Given the description of an element on the screen output the (x, y) to click on. 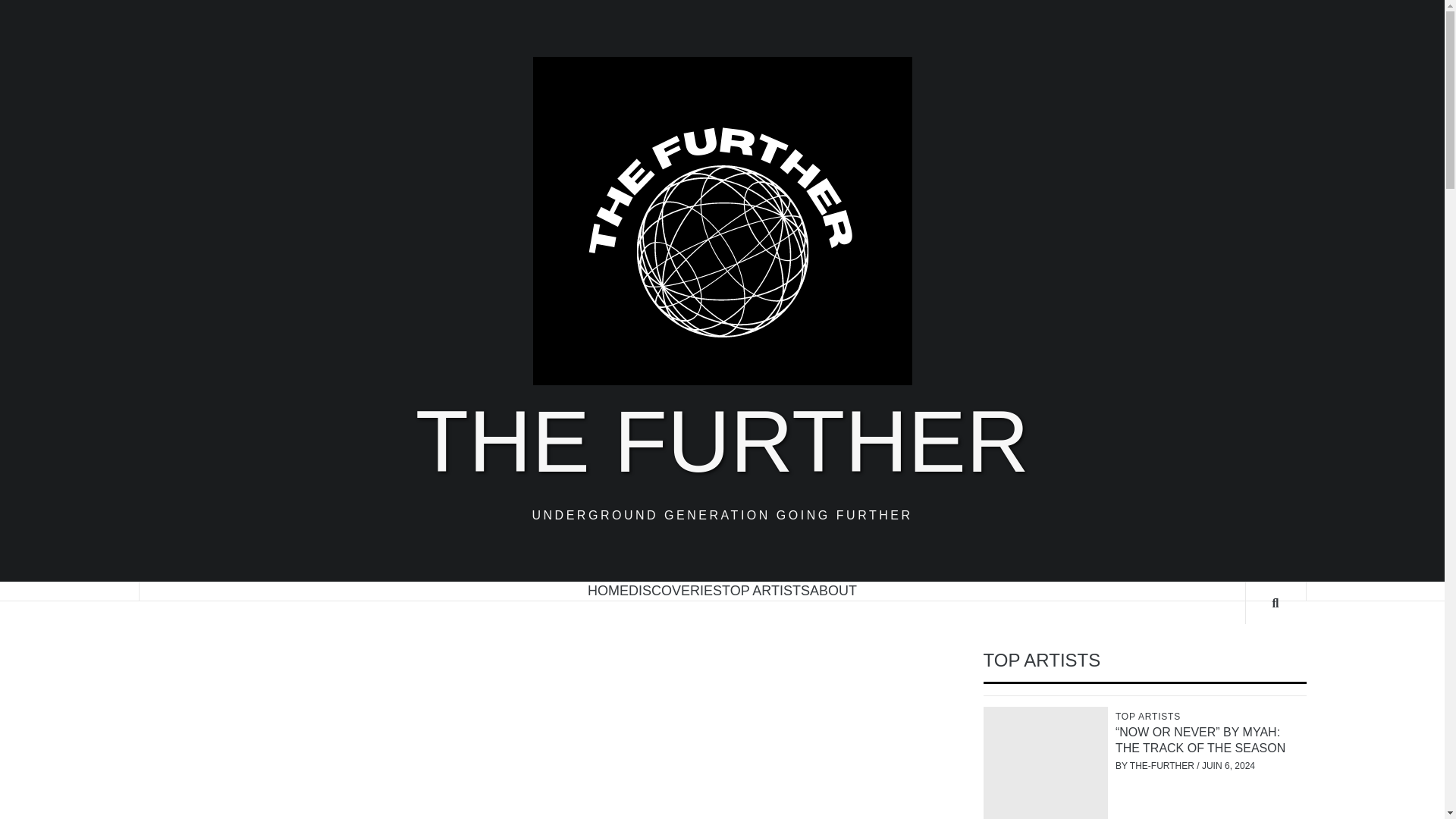
THE FURTHER (722, 441)
THE-FURTHER (1162, 765)
ABOUT (833, 589)
DISCOVERIES (675, 589)
HOME (608, 589)
TOP ARTISTS (1150, 716)
TOP ARTISTS (765, 589)
